Given the description of an element on the screen output the (x, y) to click on. 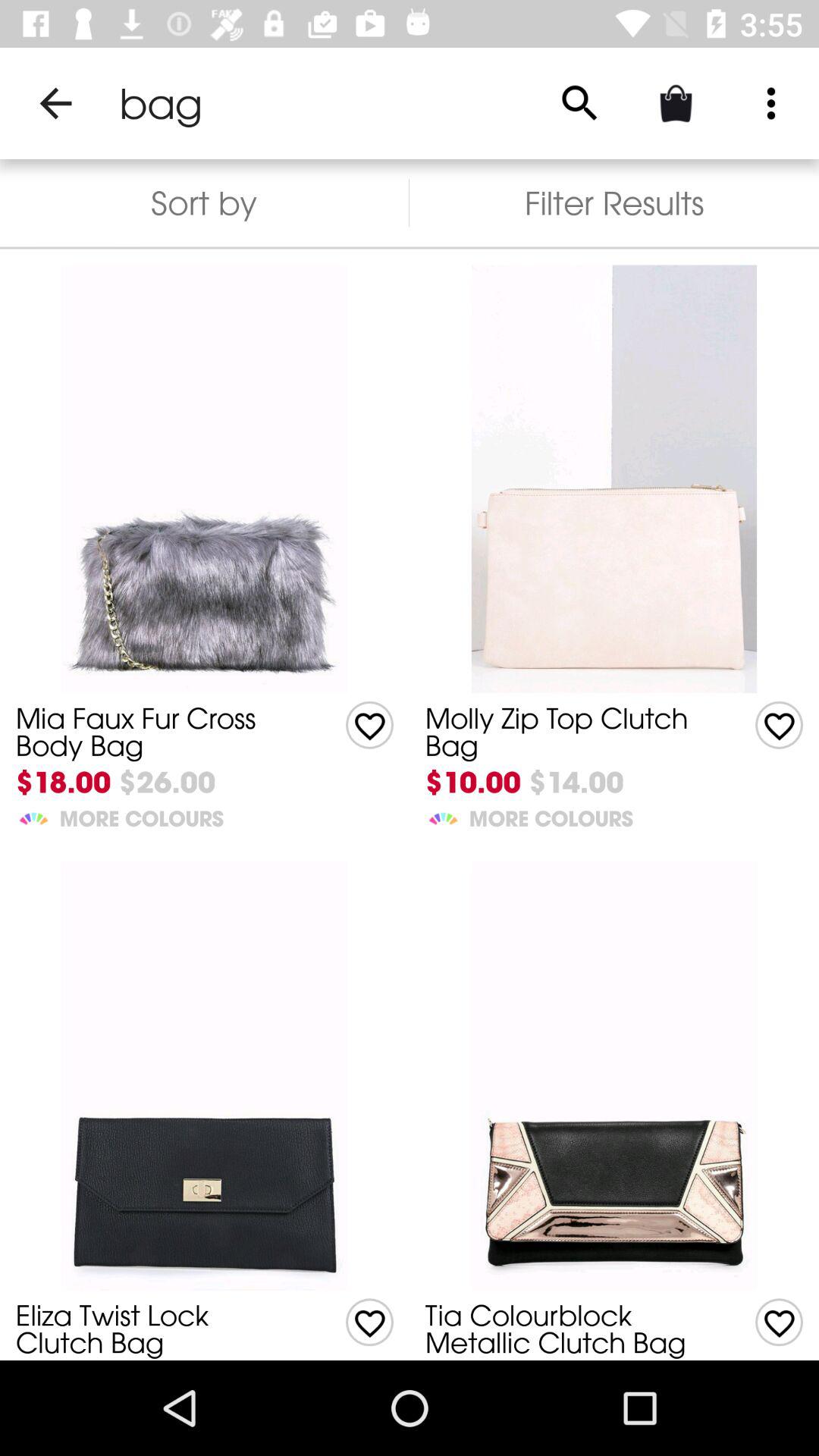
save (369, 1322)
